Given the description of an element on the screen output the (x, y) to click on. 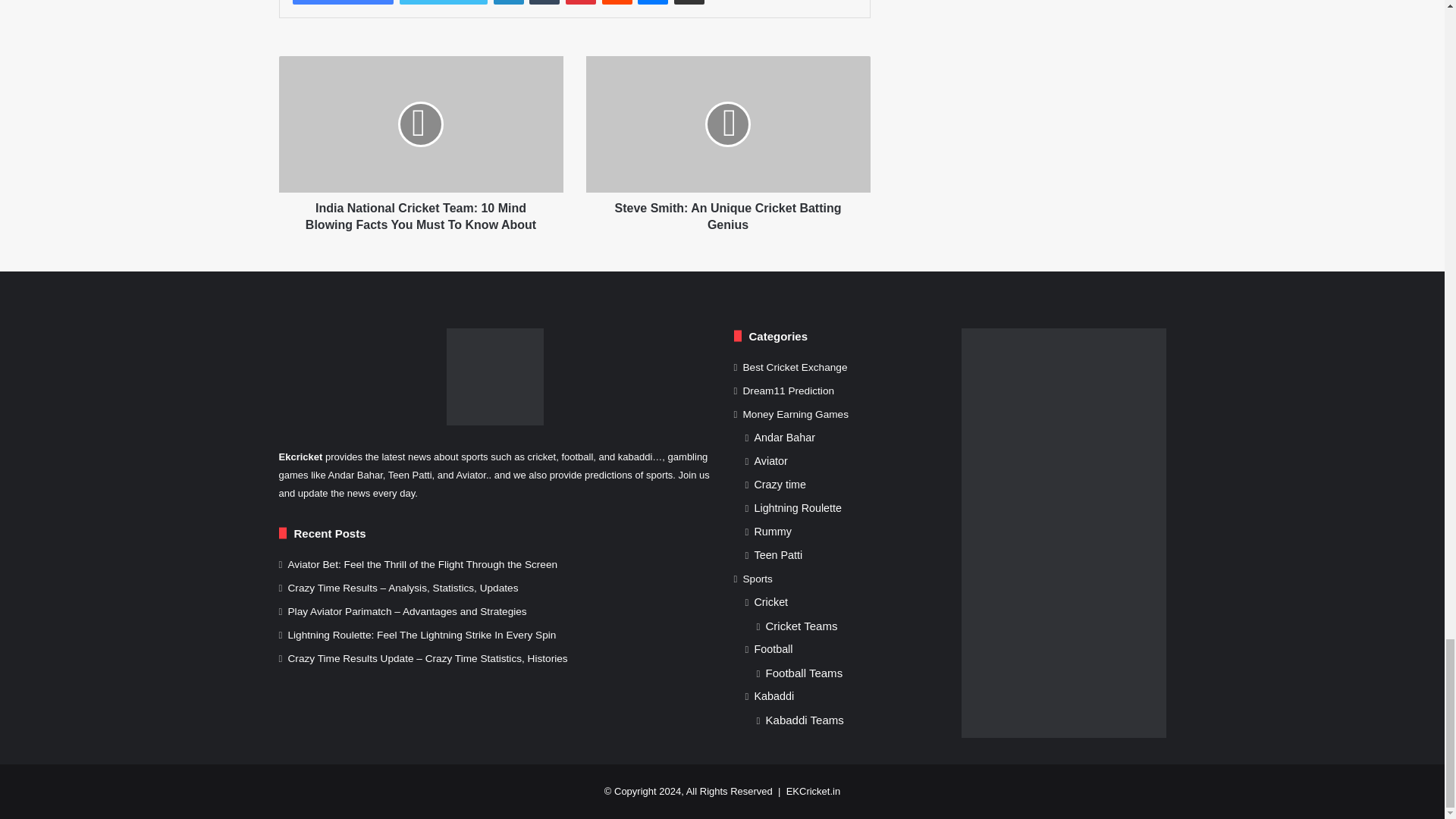
LinkedIn (508, 2)
Facebook (343, 2)
Reddit (616, 2)
Twitter (442, 2)
Pinterest (580, 2)
Tumblr (544, 2)
Messenger (652, 2)
